Given the description of an element on the screen output the (x, y) to click on. 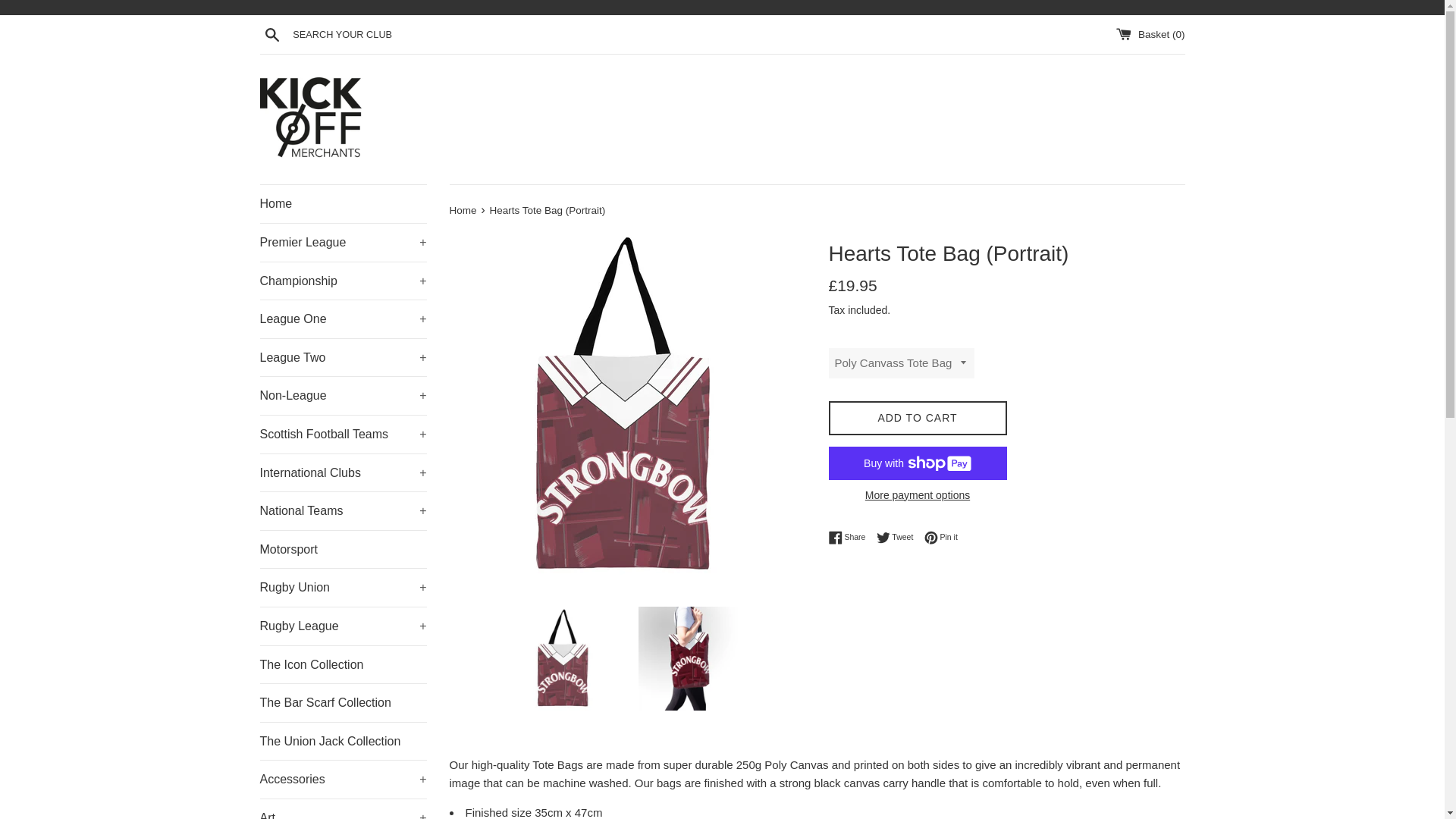
Home (342, 203)
Search (271, 34)
Pin on Pinterest (941, 537)
Share on Facebook (850, 537)
Back to the frontpage (463, 210)
Tweet on Twitter (898, 537)
